Given the description of an element on the screen output the (x, y) to click on. 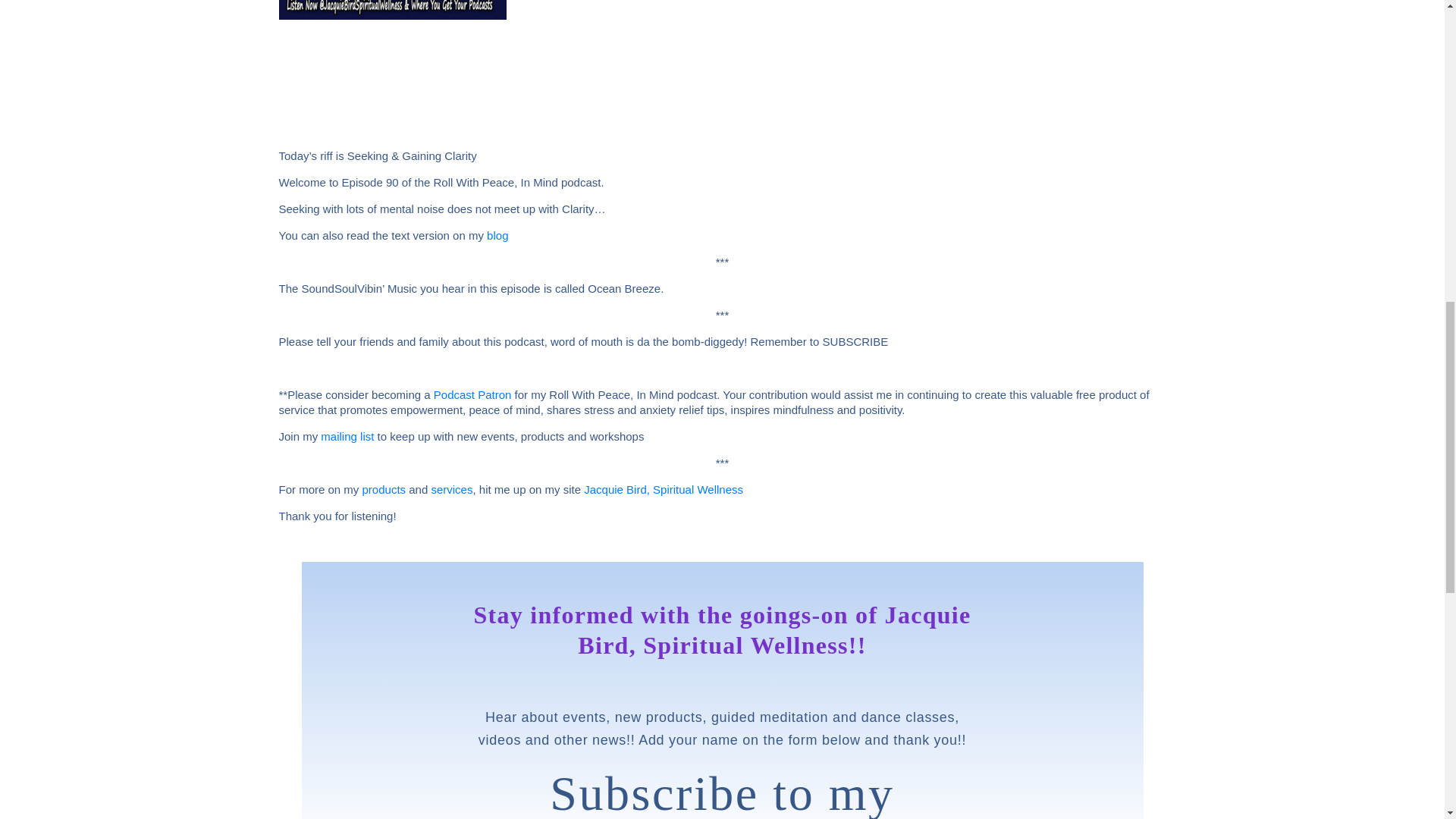
Jacquie Bird, Spiritual Wellness (662, 489)
services (450, 489)
mailing list (347, 436)
Podcast Patron (472, 394)
blog (497, 235)
products (384, 489)
